Given the description of an element on the screen output the (x, y) to click on. 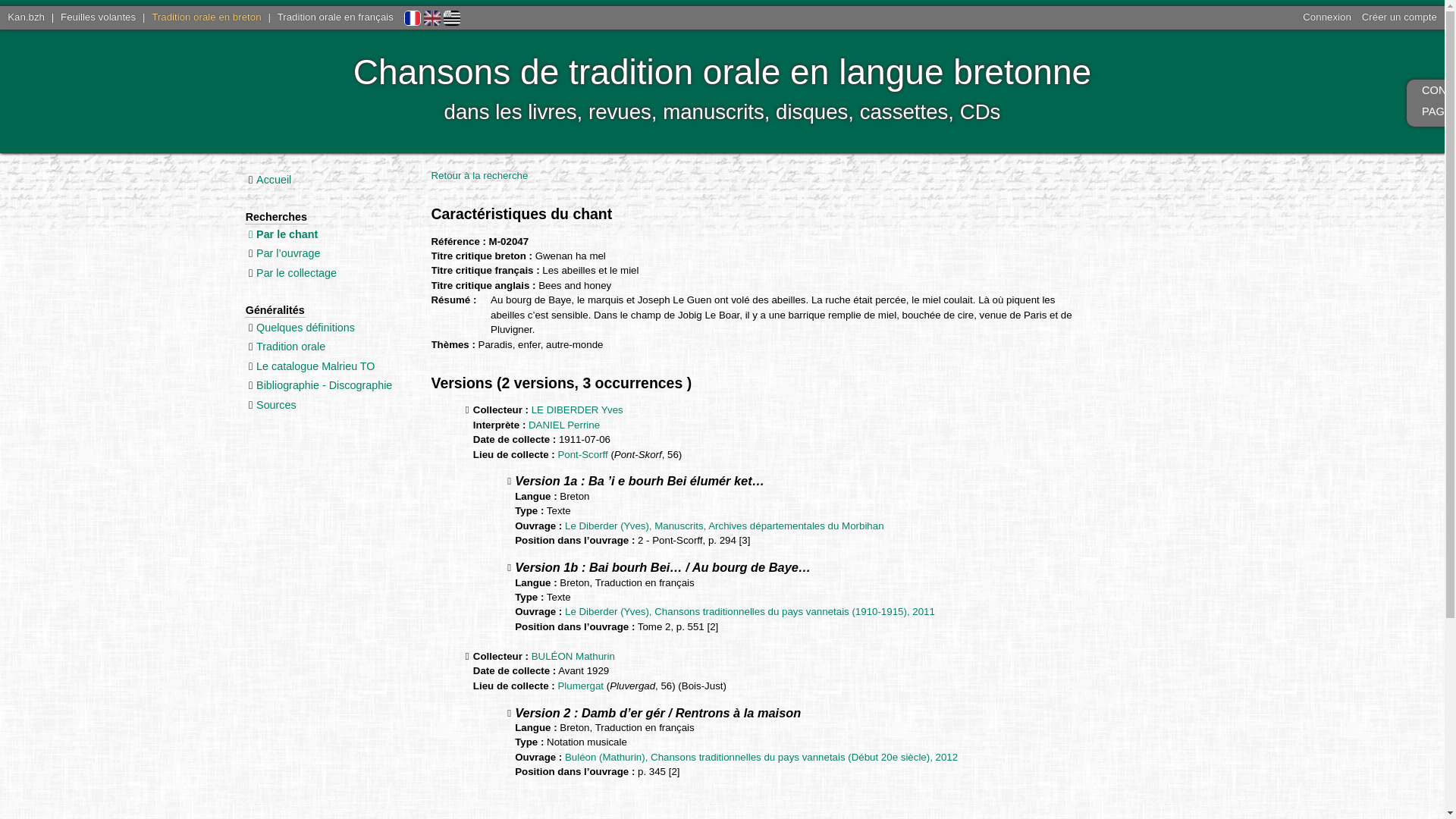
Feuilles volantes Element type: text (97, 16)
Bibliographie - Discographie Element type: text (324, 385)
CONTACT Element type: text (1425, 91)
Sources Element type: text (276, 404)
Tradition orale en breton Element type: text (206, 16)
Brezhoneg Element type: hover (452, 17)
PAGE FACEBOOK Element type: text (1425, 113)
Connexion Element type: text (1327, 16)
Par le chant Element type: text (286, 234)
Kan.bzh Element type: text (25, 16)
Accueil Element type: text (273, 179)
Par le collectage Element type: text (296, 272)
Plumergat Element type: text (580, 685)
Le catalogue Malrieu TO Element type: text (315, 366)
Tradition orale Element type: text (290, 346)
Pont-Scorff Element type: text (582, 454)
DANIEL Perrine Element type: text (563, 424)
English Element type: hover (432, 17)
LE DIBERDER Yves Element type: text (577, 409)
